Given the description of an element on the screen output the (x, y) to click on. 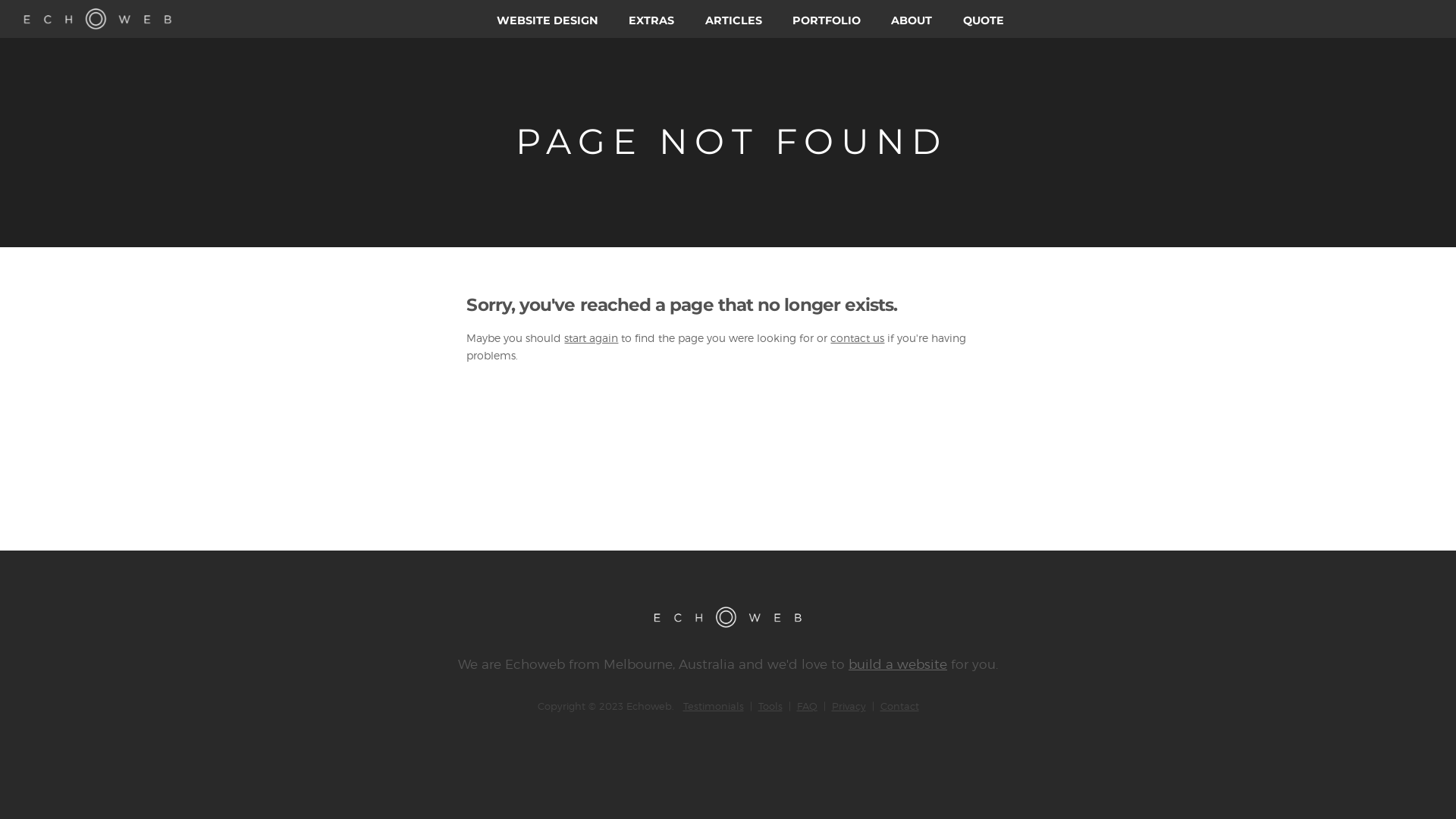
PORTFOLIO Element type: text (826, 18)
WEBSITE DESIGN Element type: text (547, 18)
Testimonials Element type: text (712, 705)
Echoweb Element type: text (534, 663)
Tools Element type: text (770, 705)
ARTICLES Element type: text (733, 18)
Privacy Element type: text (848, 705)
start again Element type: text (591, 337)
Contact Element type: text (898, 705)
QUOTE Element type: text (983, 18)
FAQ Element type: text (806, 705)
build a website Element type: text (897, 663)
contact us Element type: text (857, 337)
EXTRAS Element type: text (651, 18)
ABOUT Element type: text (911, 18)
